Given the description of an element on the screen output the (x, y) to click on. 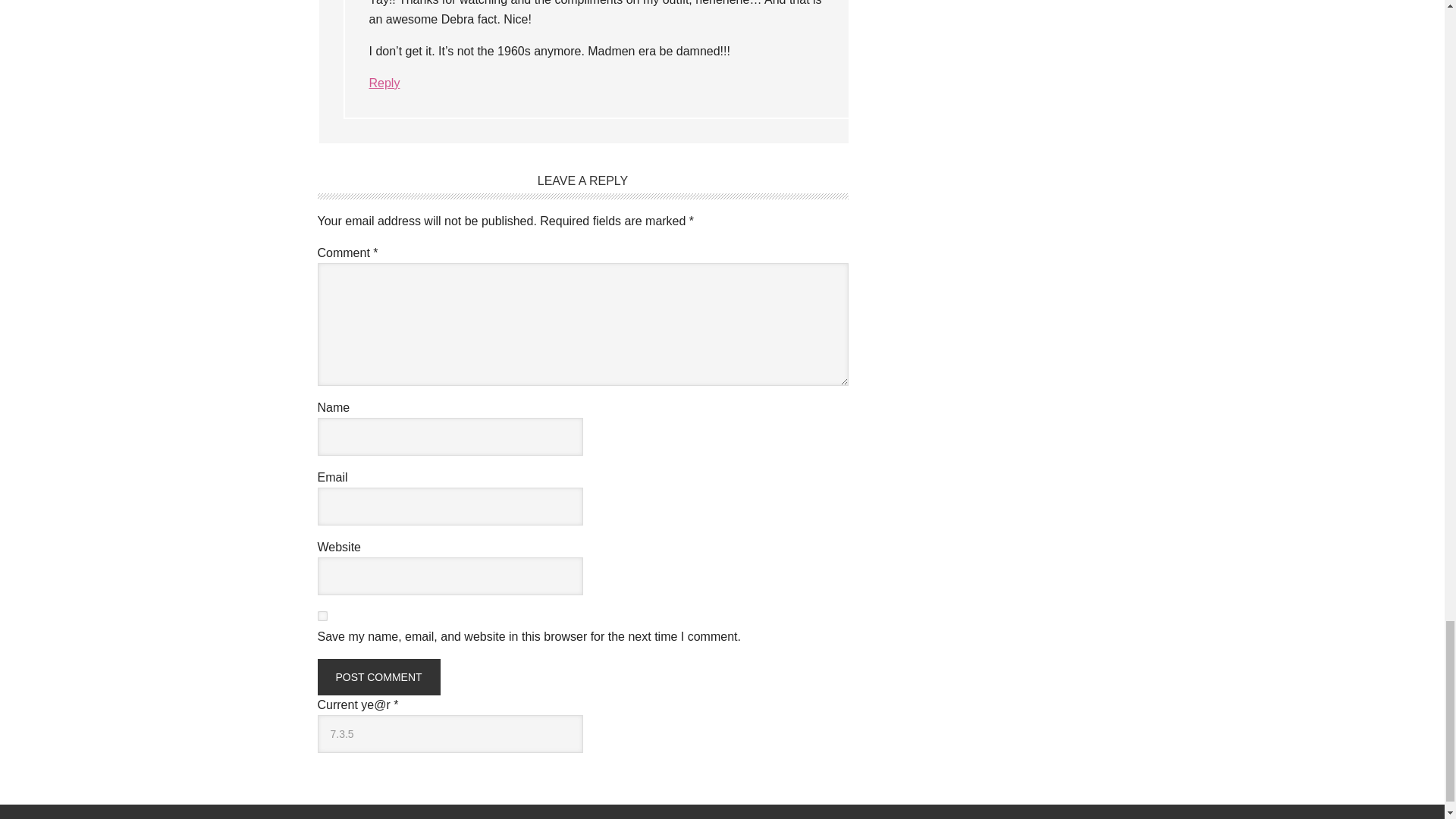
yes (321, 615)
Post Comment (378, 677)
7.3.5 (449, 733)
